Given the description of an element on the screen output the (x, y) to click on. 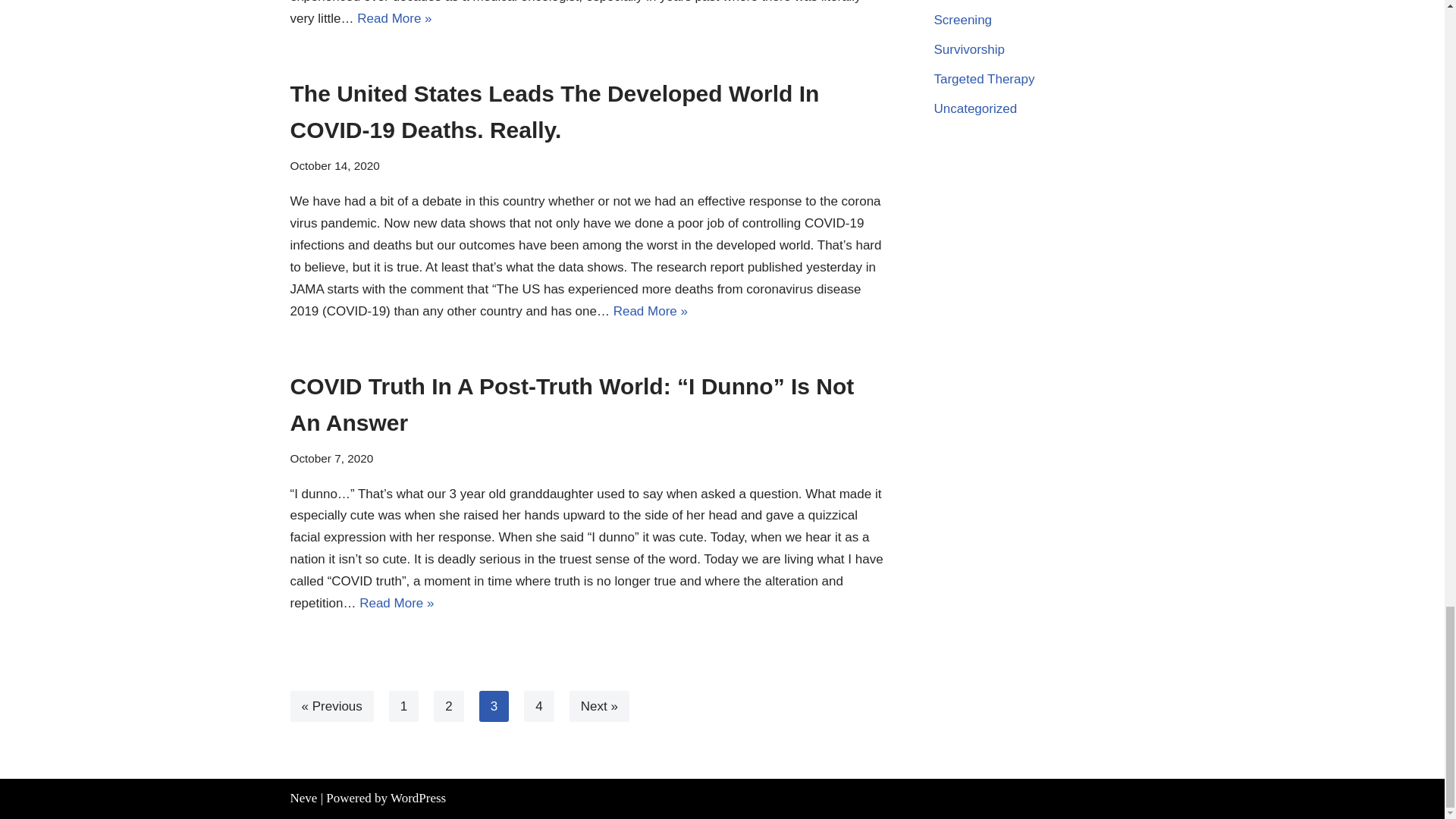
4 (538, 706)
2 (448, 706)
1 (403, 706)
